Given the description of an element on the screen output the (x, y) to click on. 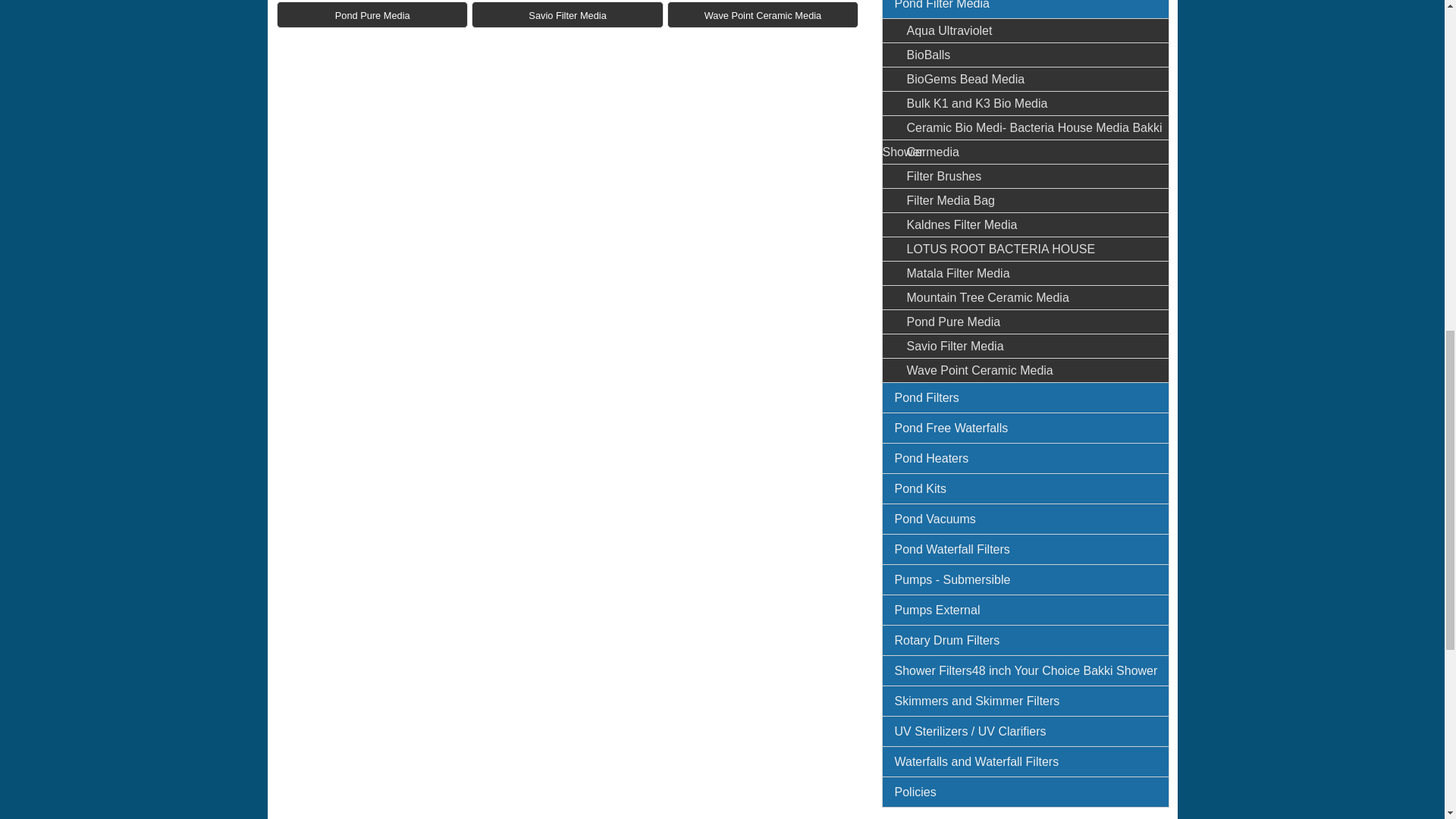
Pond Pure Media (371, 14)
Wave Point Ceramic Media (762, 14)
Savio Filter Media (566, 14)
